Given the description of an element on the screen output the (x, y) to click on. 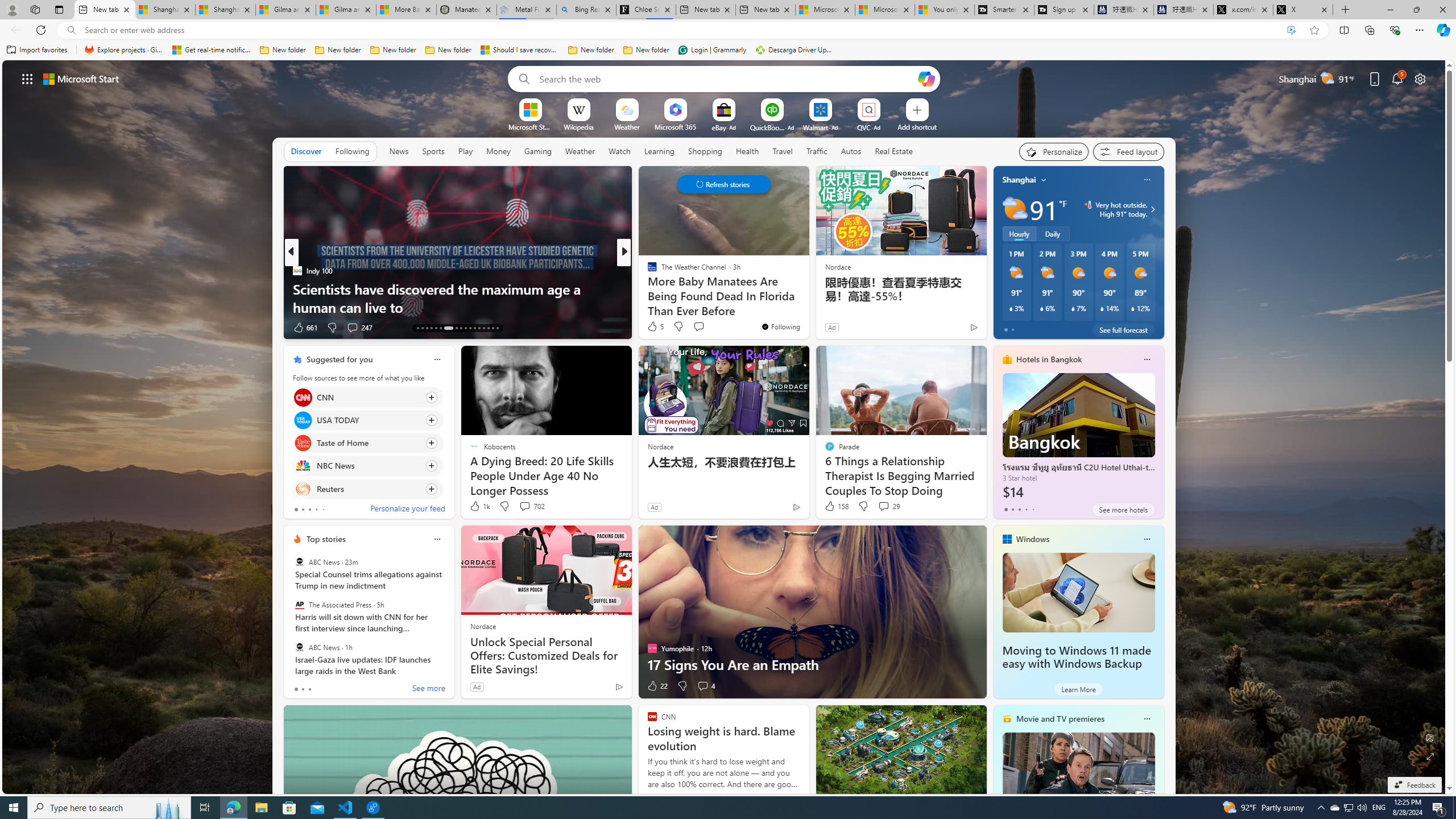
Nordace.com (663, 288)
ABC News (299, 646)
The Associated Press (299, 604)
NBC News (302, 466)
tab-3 (1025, 509)
AutomationID: tab-17 (435, 328)
View comments 1 Comment (702, 327)
158 Like (835, 505)
AutomationID: tab-20 (456, 328)
